Given the description of an element on the screen output the (x, y) to click on. 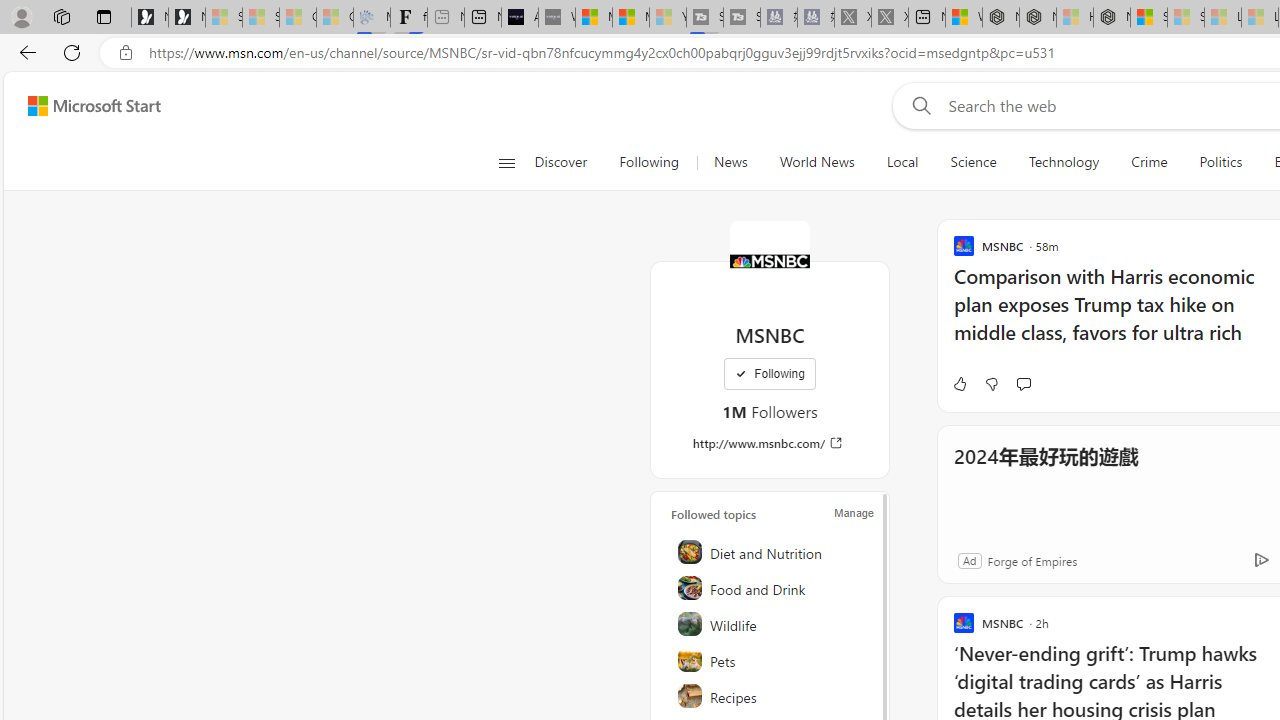
Food and Drink (771, 587)
What's the best AI voice generator? - voice.ai - Sleeping (556, 17)
Manage (854, 512)
Diet and Nutrition (771, 551)
